Given the description of an element on the screen output the (x, y) to click on. 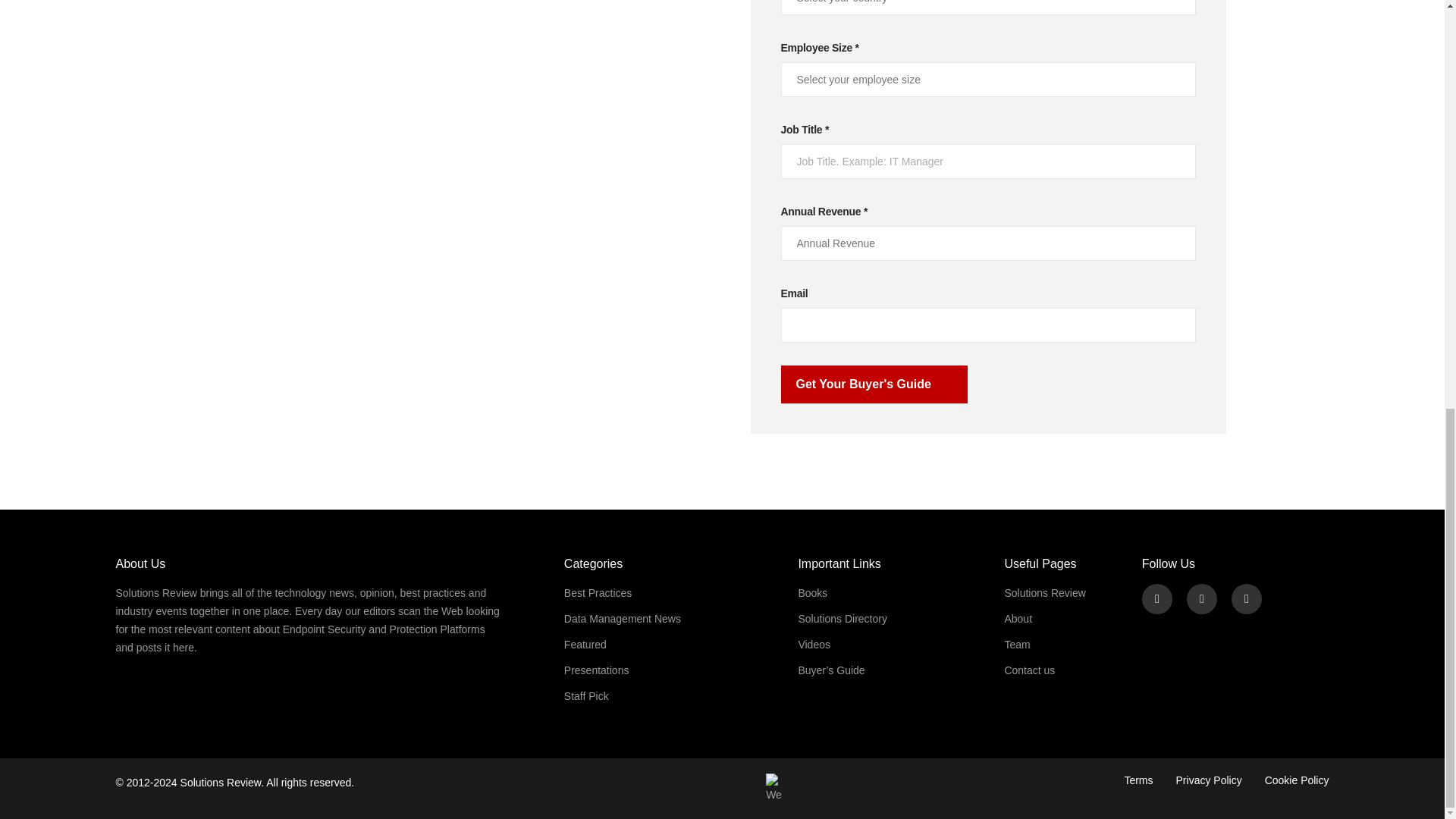
Featured (585, 644)
Solutions Directory (841, 618)
Solutions Review (221, 782)
Team (1016, 644)
Videos (813, 644)
Get Your Buyer'S Guide (874, 384)
Best Practices (597, 592)
Presentations (596, 670)
Staff Pick (586, 695)
Contact us (1029, 670)
